Given the description of an element on the screen output the (x, y) to click on. 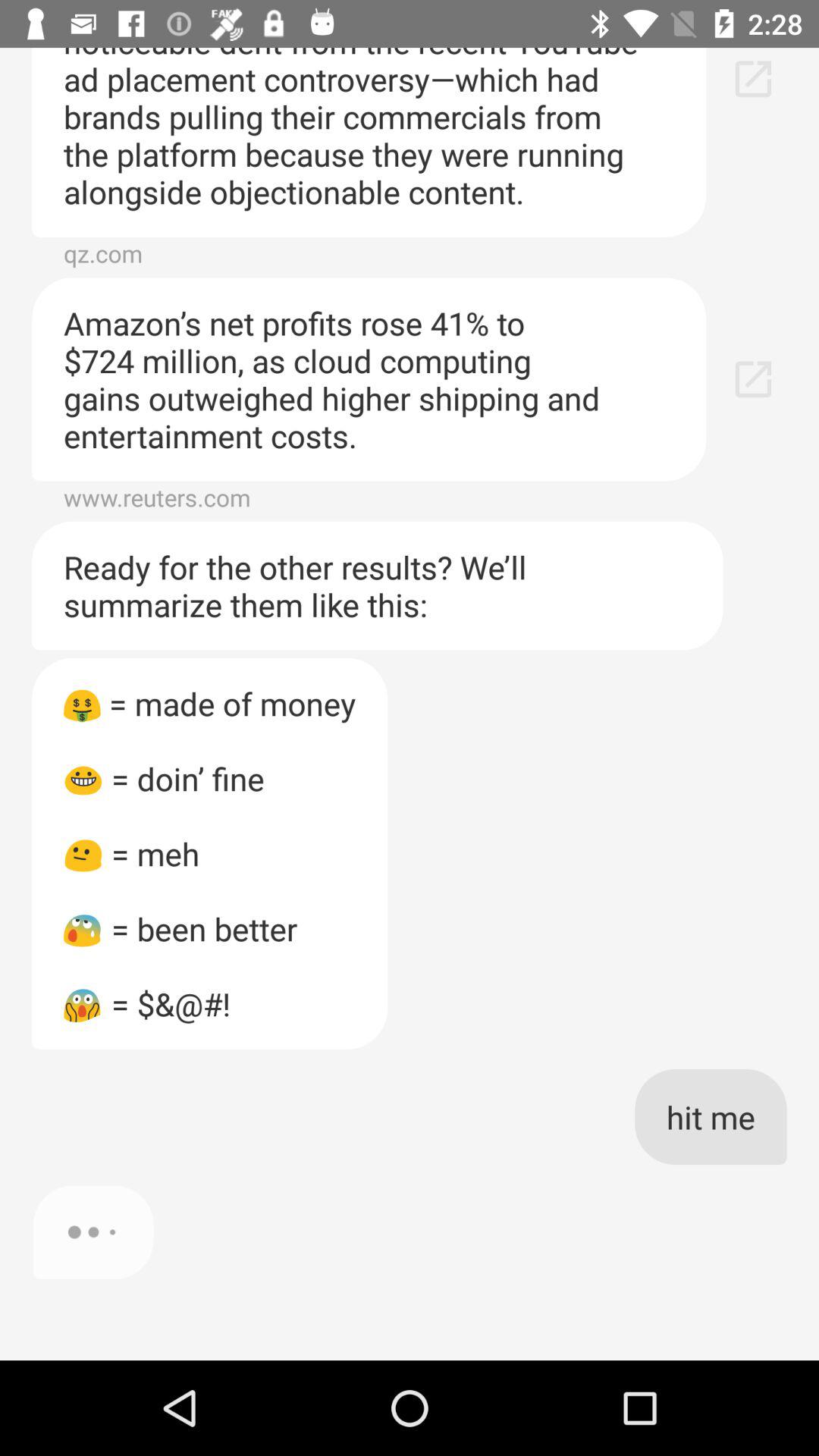
turn on the item above www.reuters.com icon (368, 379)
